Given the description of an element on the screen output the (x, y) to click on. 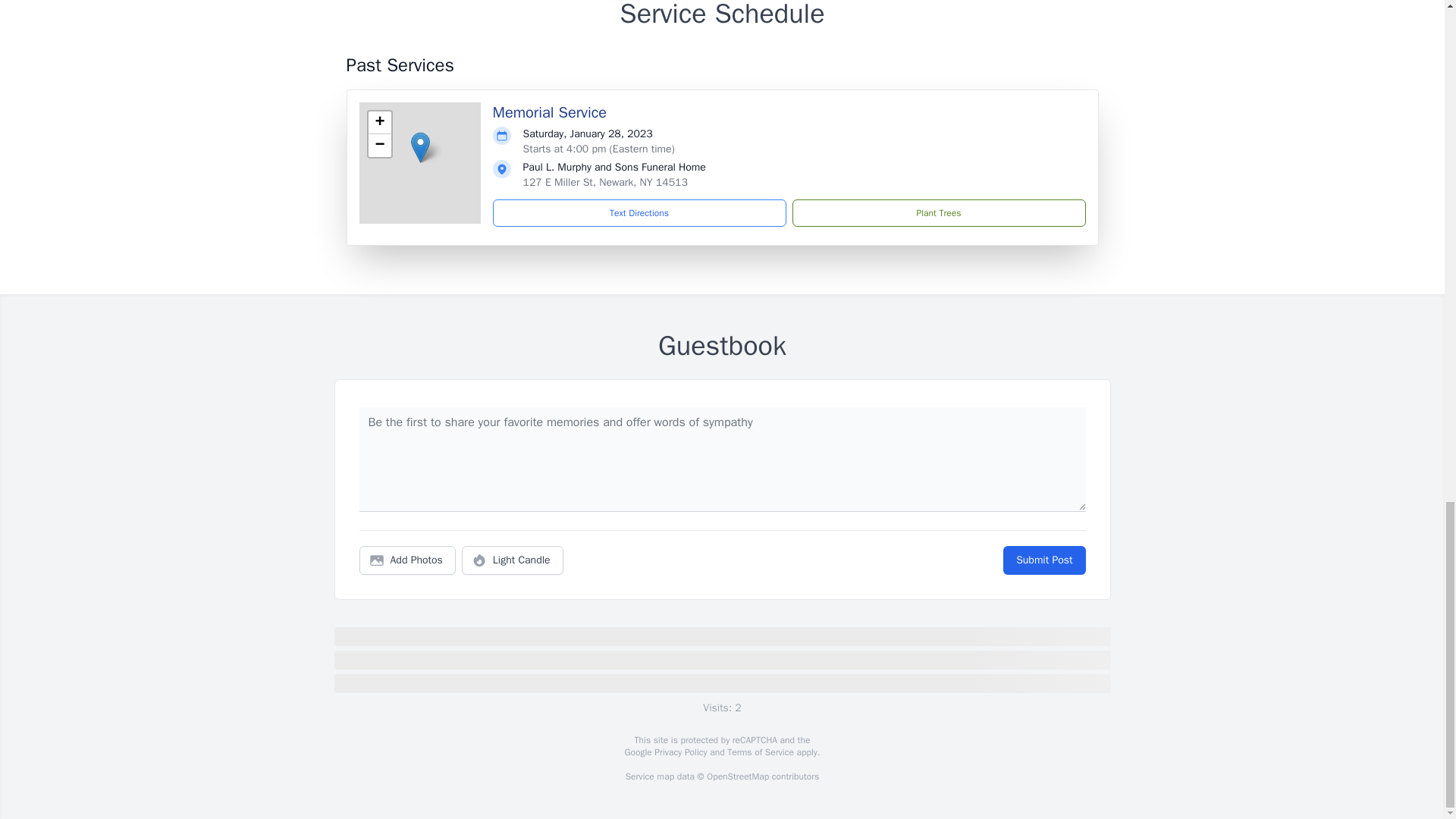
Light Candle (512, 560)
Privacy Policy (679, 752)
Submit Post (1043, 560)
Zoom in (379, 122)
127 E Miller St, Newark, NY 14513 (604, 182)
Text Directions (639, 212)
Terms of Service (759, 752)
OpenStreetMap (737, 776)
Plant Trees (938, 212)
Zoom out (379, 145)
Add Photos (407, 560)
